Given the description of an element on the screen output the (x, y) to click on. 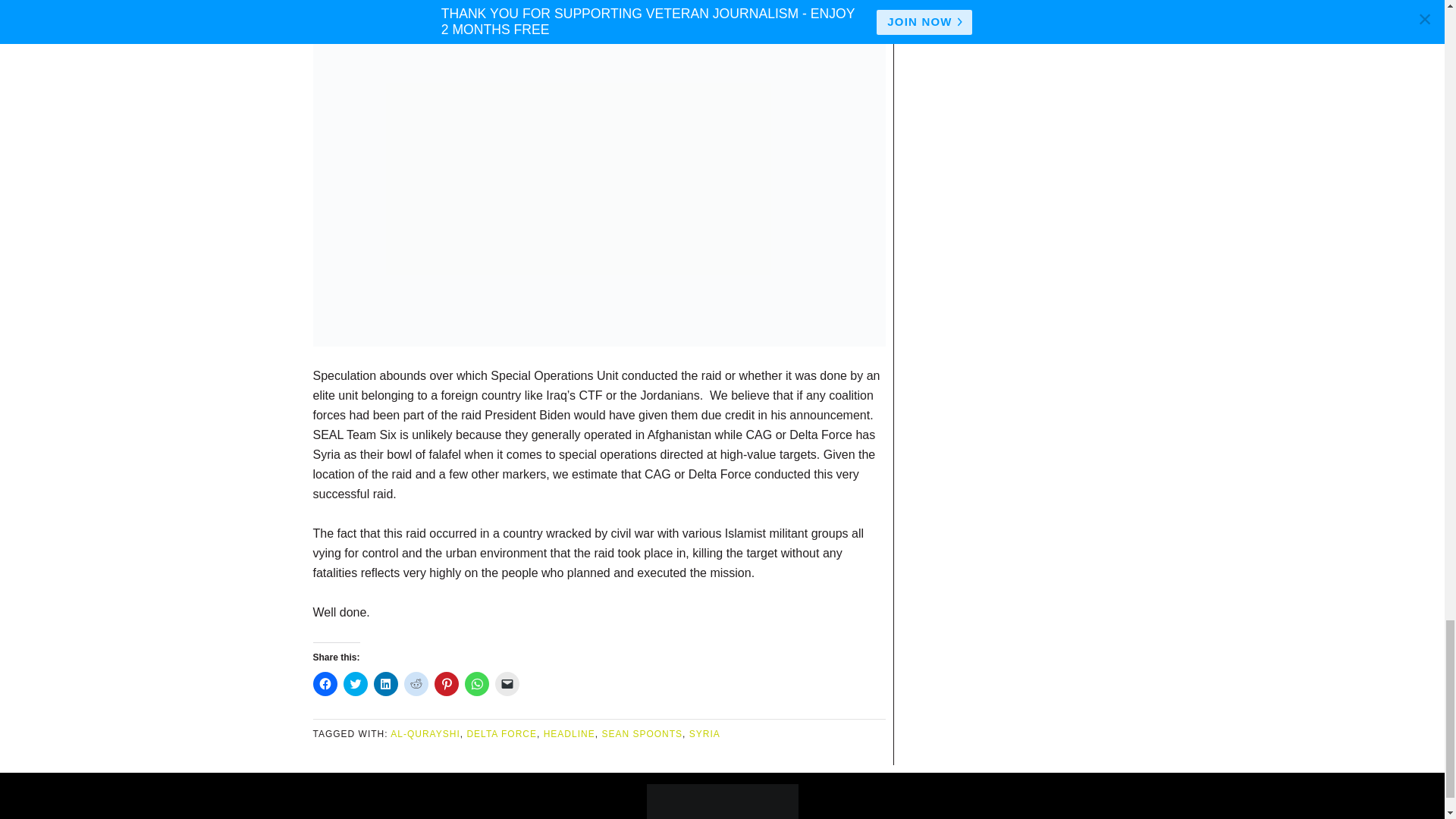
Click to share on LinkedIn (384, 683)
Click to share on Pinterest (445, 683)
Click to share on Reddit (415, 683)
Click to share on Facebook (324, 683)
Click to email a link to a friend (506, 683)
Click to share on Twitter (354, 683)
AL-QURAYSHI (425, 733)
Click to share on WhatsApp (475, 683)
